Given the description of an element on the screen output the (x, y) to click on. 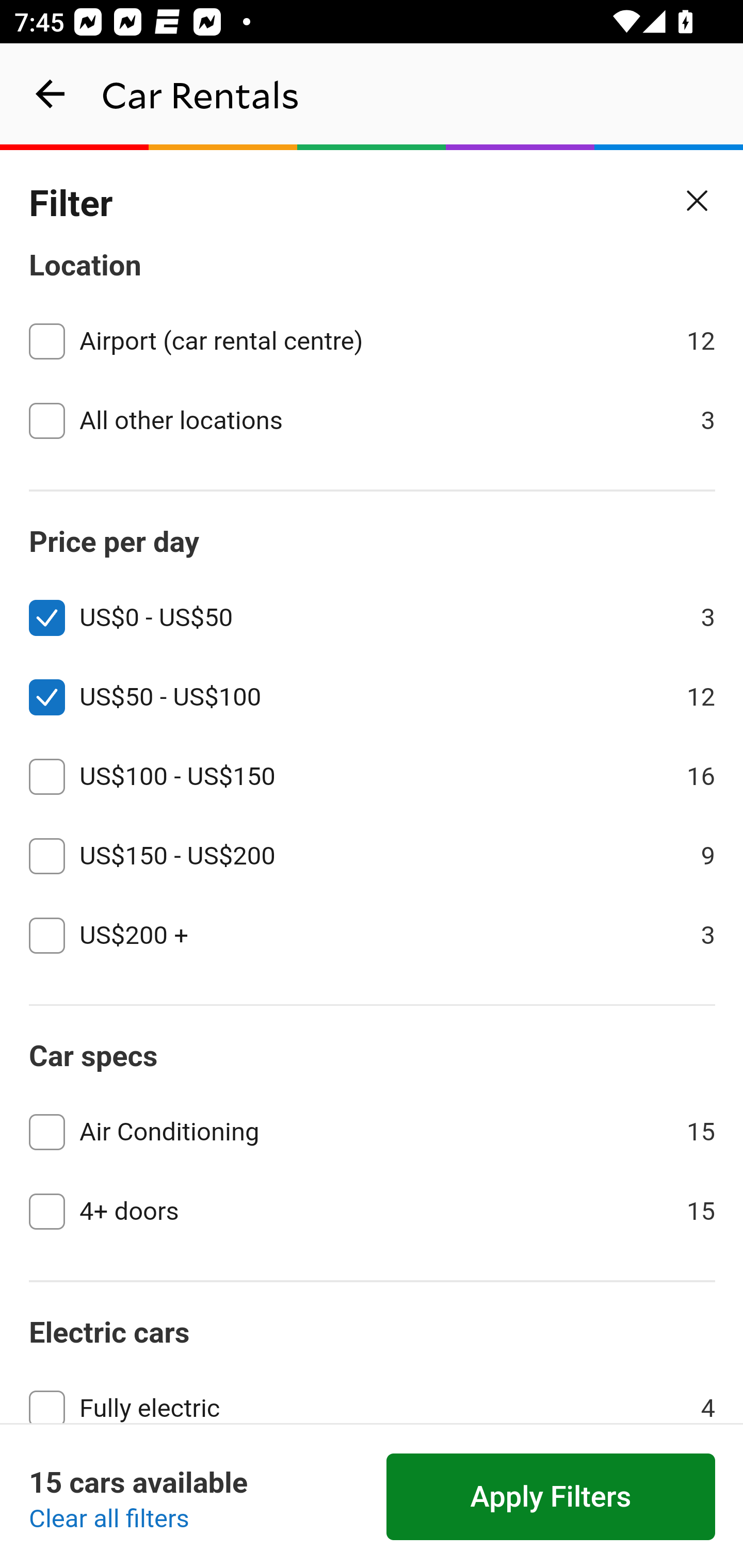
navigation_button (50, 93)
Close (697, 201)
Apply Filters (551, 1497)
Clear all filters (108, 1519)
